Given the description of an element on the screen output the (x, y) to click on. 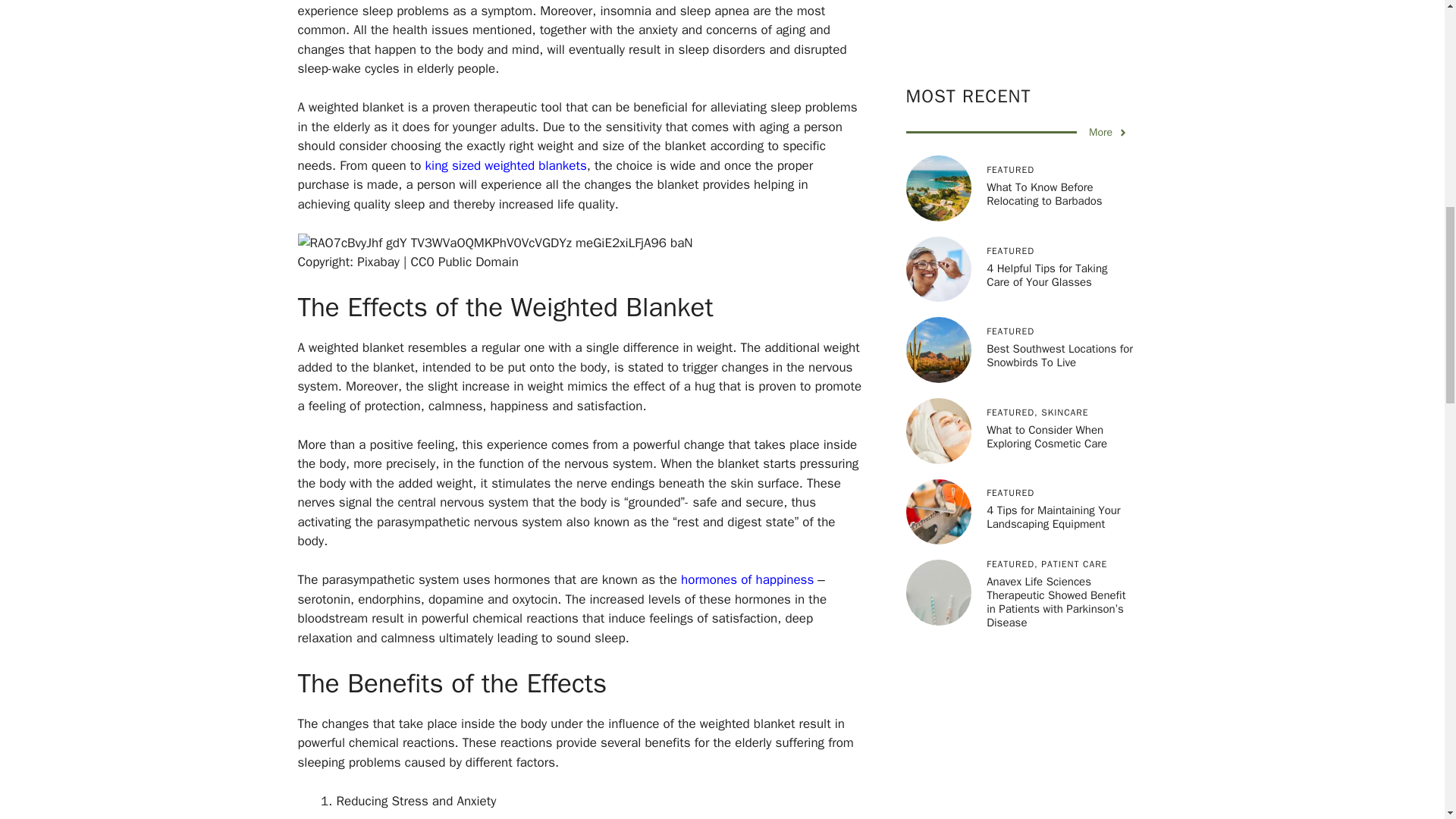
Weighted Blanket Benefits for the Elderly 1 (495, 243)
hormones of happiness (747, 579)
king sized weighted blankets (505, 165)
